Given the description of an element on the screen output the (x, y) to click on. 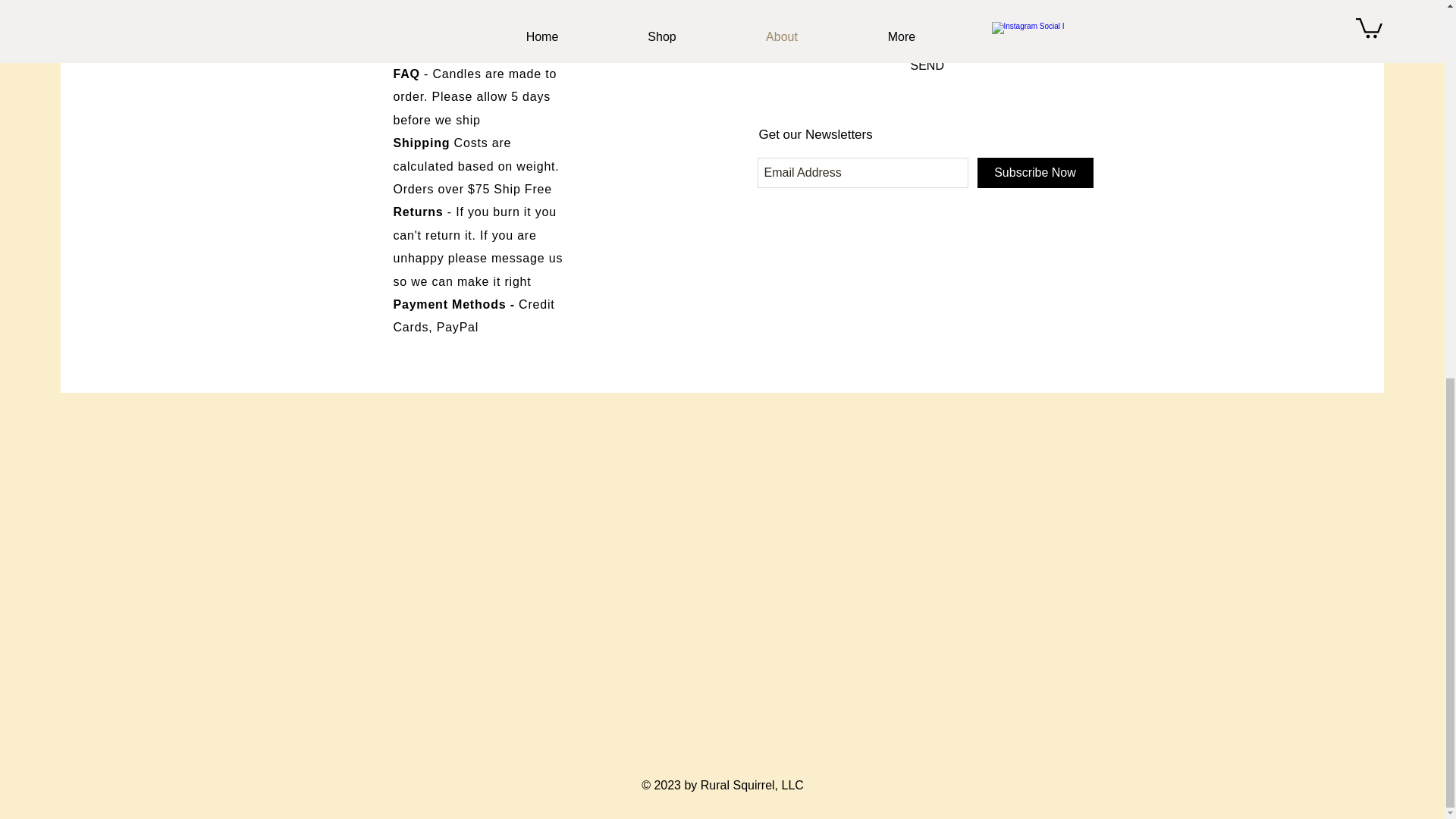
SEND (926, 65)
Payment Methods - (455, 304)
Credit Cards, PayPal (473, 315)
Subscribe Now (1034, 173)
